Given the description of an element on the screen output the (x, y) to click on. 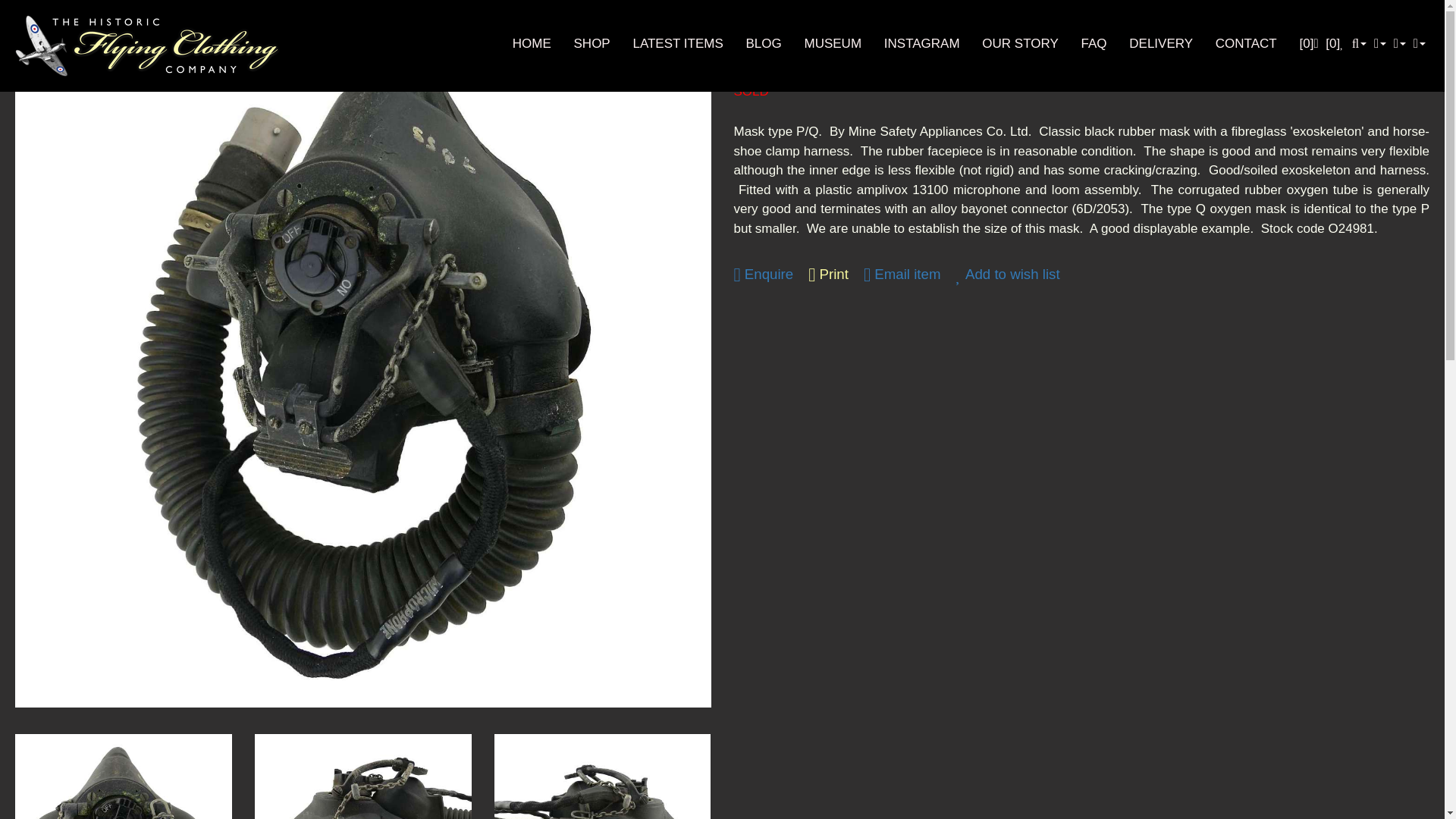
Enquire (763, 274)
The Historic Flying Clothing Company (147, 45)
Email item (901, 274)
Print (828, 274)
MUSEUM (832, 43)
BLOG (763, 43)
LATEST ITEMS (676, 43)
DELIVERY (1160, 43)
Add to wish list (1007, 274)
HOME (531, 43)
